Given the description of an element on the screen output the (x, y) to click on. 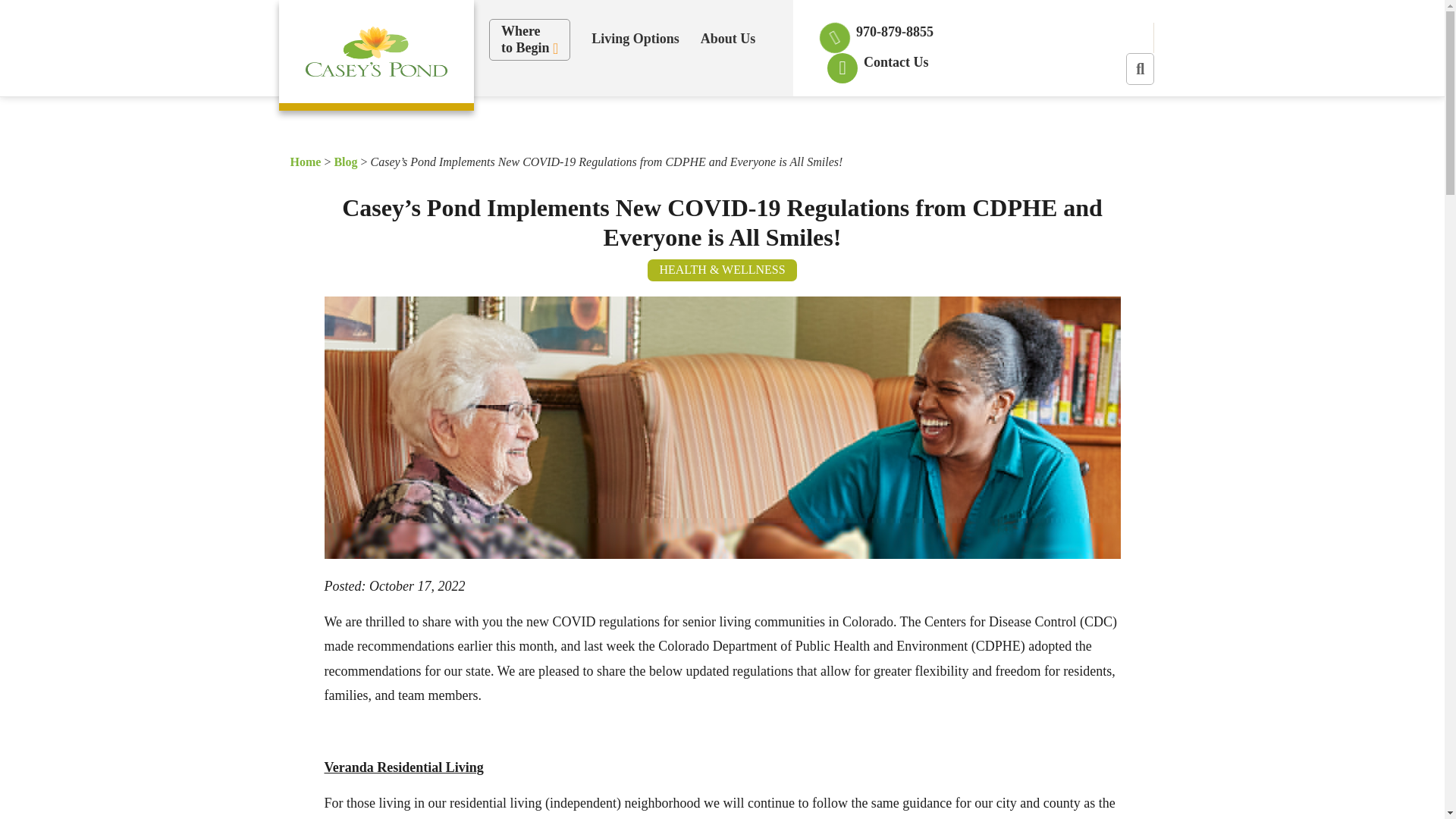
Continuing Care Community (784, 104)
Independent Living (648, 94)
Assisted Living (635, 94)
Blog (815, 94)
Photo Gallery (529, 39)
Careers (741, 94)
Our Lifestyle (723, 94)
Pricing Information (804, 94)
Testimonials (649, 94)
Living Options (736, 94)
About Us (635, 38)
Where to Begin (728, 38)
Floor Plans (636, 94)
Amenities (624, 94)
